Given the description of an element on the screen output the (x, y) to click on. 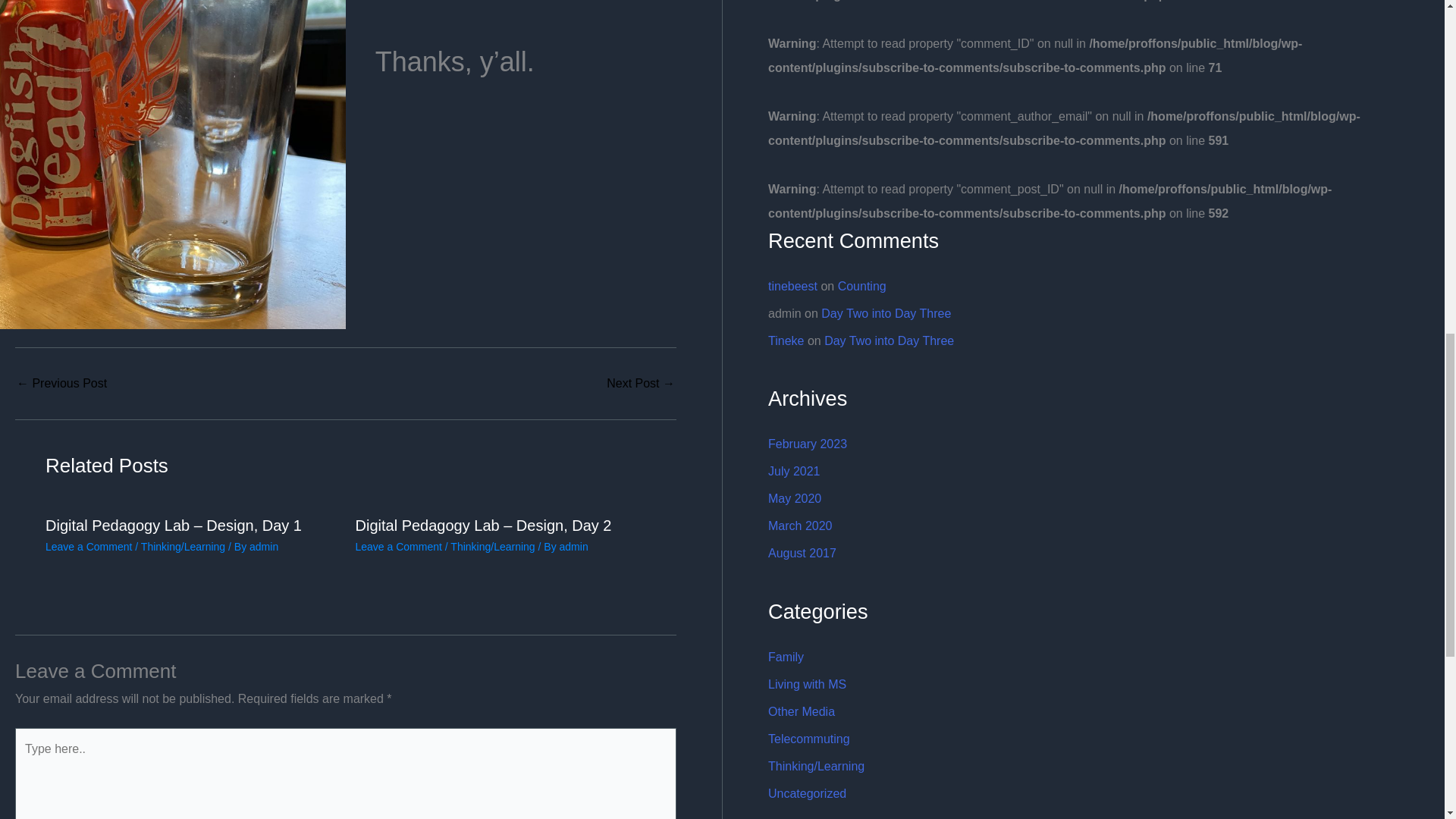
Impostor's Ice Cream Cake (61, 383)
Other Media (801, 711)
Tineke (785, 340)
Day Two into Day Three (888, 340)
admin (263, 546)
March 2020 (800, 525)
admin (573, 546)
Zoom Zoom (641, 383)
Day Two into Day Three (885, 313)
Leave a Comment (88, 546)
